Given the description of an element on the screen output the (x, y) to click on. 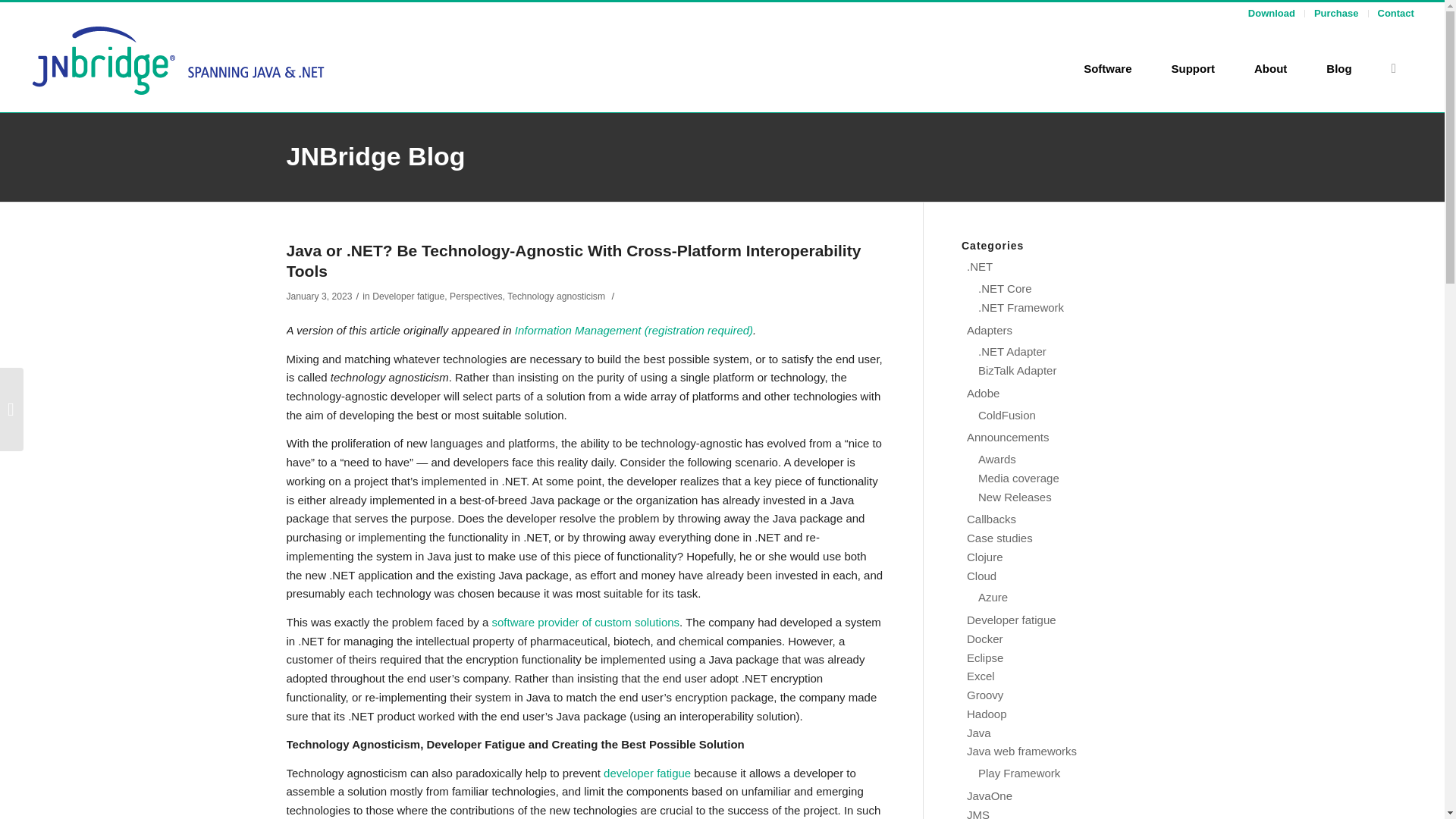
Contact (1395, 12)
Support (1192, 68)
Download (1271, 12)
Purchase (1336, 12)
Software (1107, 68)
